Given the description of an element on the screen output the (x, y) to click on. 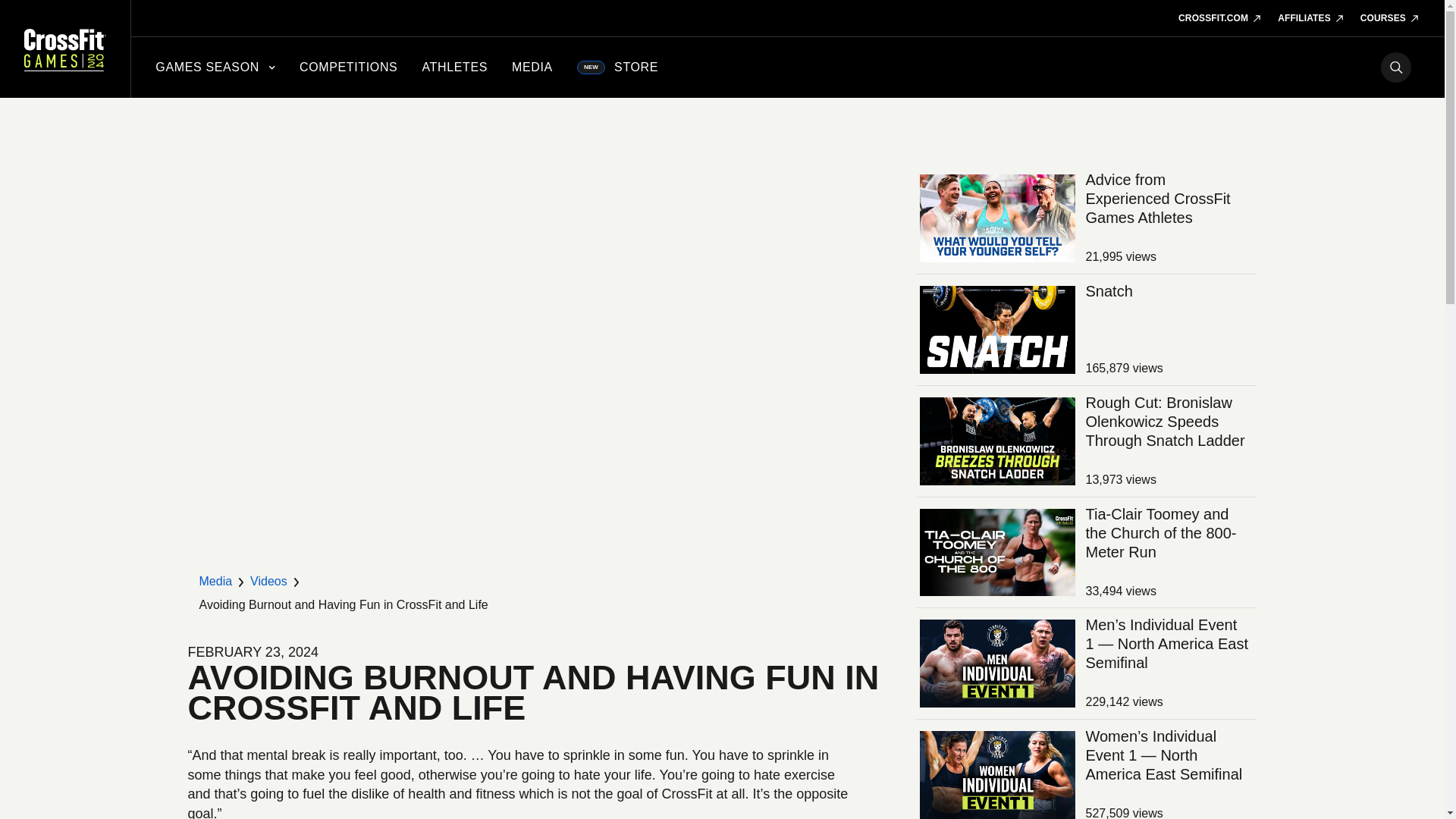
AFFILIATES (1311, 18)
GAMES SEASON (215, 66)
CrossFit Games Home (65, 49)
COURSES (1390, 18)
CrossFit Games (65, 49)
CROSSFIT.COM (1219, 18)
